Given the description of an element on the screen output the (x, y) to click on. 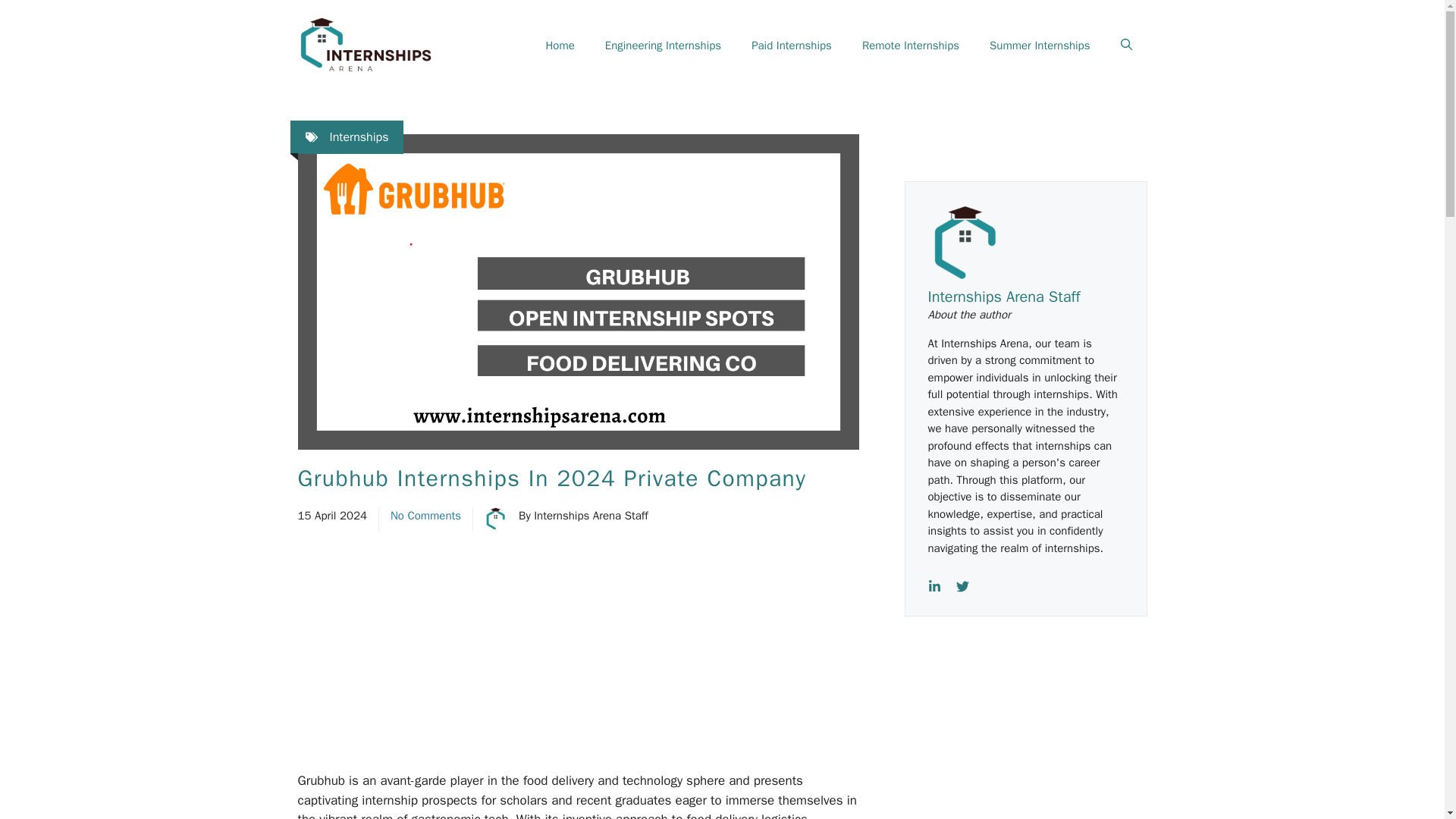
Summer Internships (1039, 44)
No Comments (425, 515)
Engineering Internships (662, 44)
Remote Internships (910, 44)
Internships (358, 136)
Advertisement (611, 658)
Home (559, 44)
Paid Internships (791, 44)
Advertisement (1036, 740)
